Given the description of an element on the screen output the (x, y) to click on. 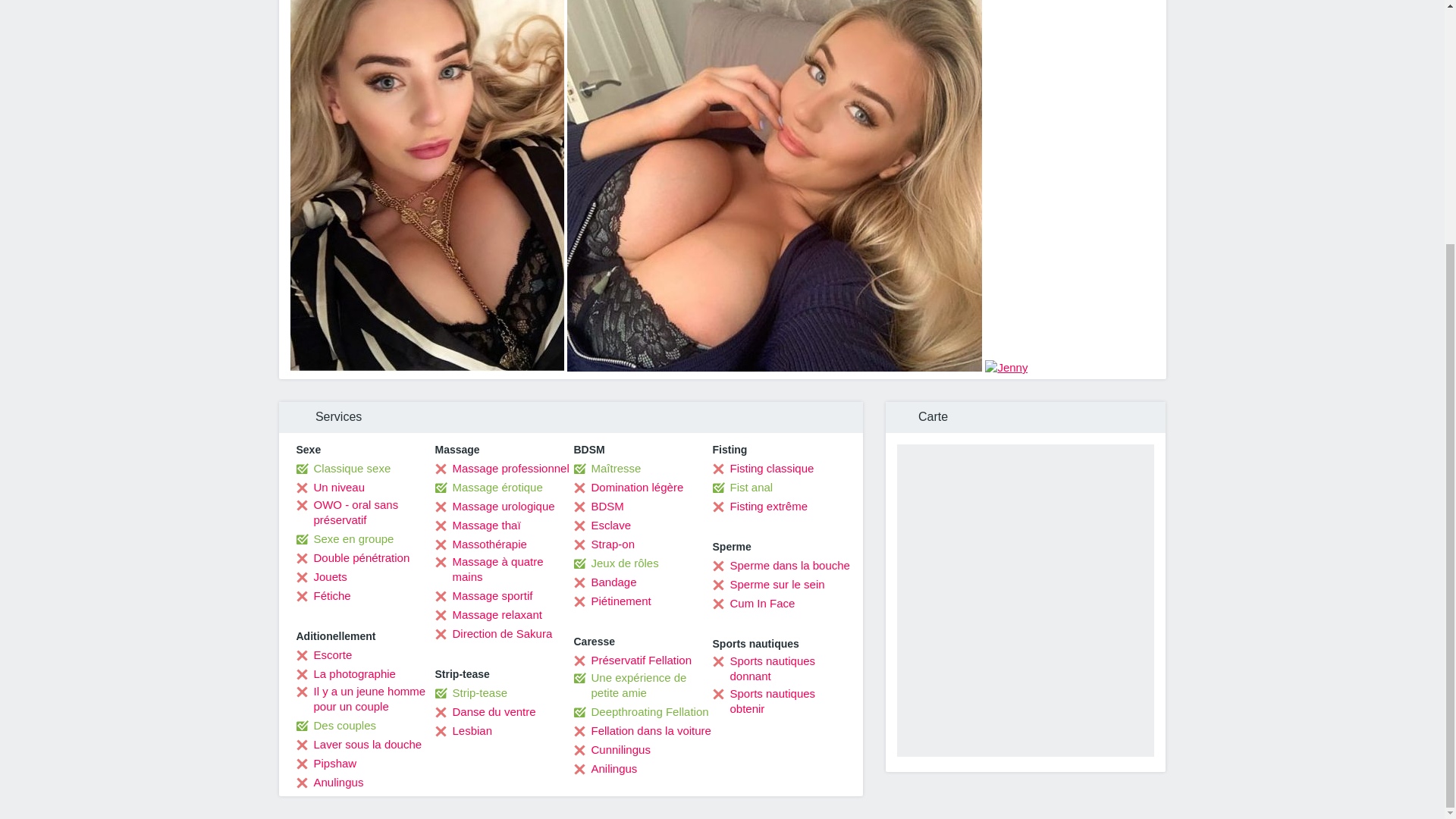
Massage professionnel (502, 468)
Pipshaw (325, 763)
Sexe en groupe (344, 539)
Massage urologique (494, 506)
La photographie (344, 673)
Jouets (320, 576)
Anulingus (328, 782)
Escorte (323, 654)
Massage sportif (483, 595)
Classique sexe (342, 468)
Massage relaxant (488, 614)
Laver sous la douche (358, 744)
Un niveau (330, 487)
Des couples (335, 725)
Il y a un jeune homme pour un couple (364, 698)
